Given the description of an element on the screen output the (x, y) to click on. 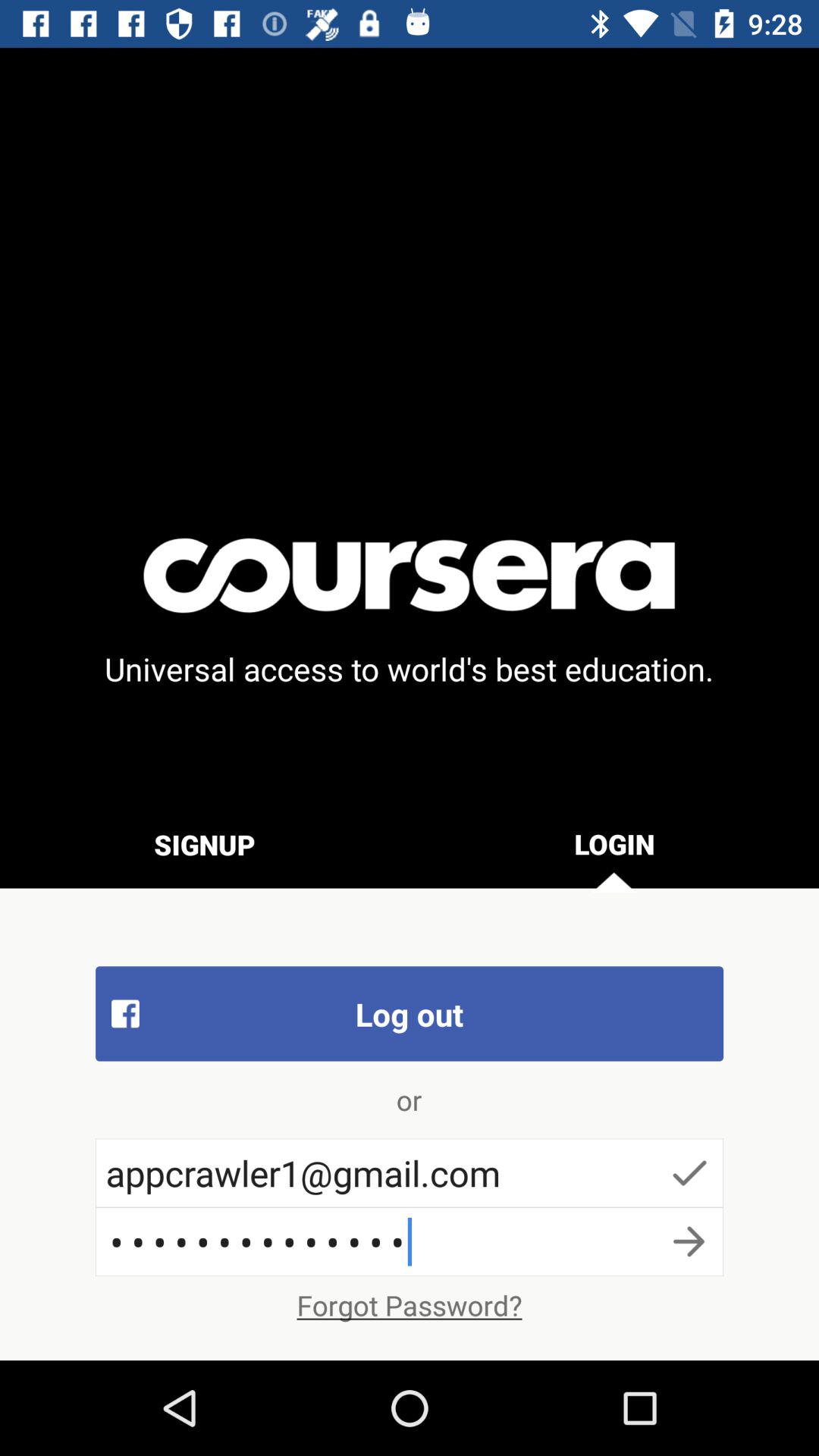
click the signup item (204, 844)
